Given the description of an element on the screen output the (x, y) to click on. 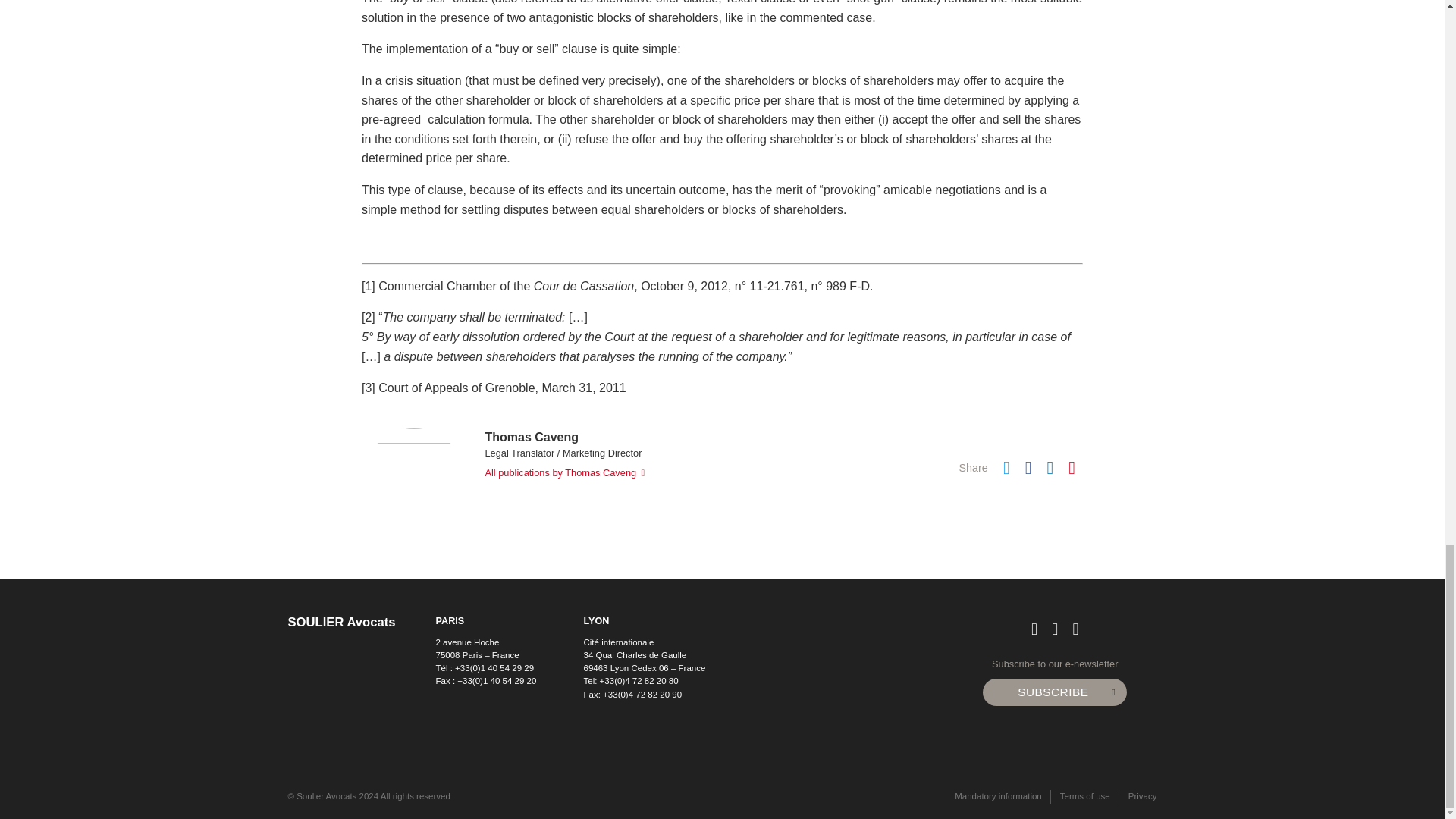
Facebook (1028, 469)
Envoyer par mail (1071, 469)
Linkedin (1049, 469)
Twitter (1006, 469)
